Given the description of an element on the screen output the (x, y) to click on. 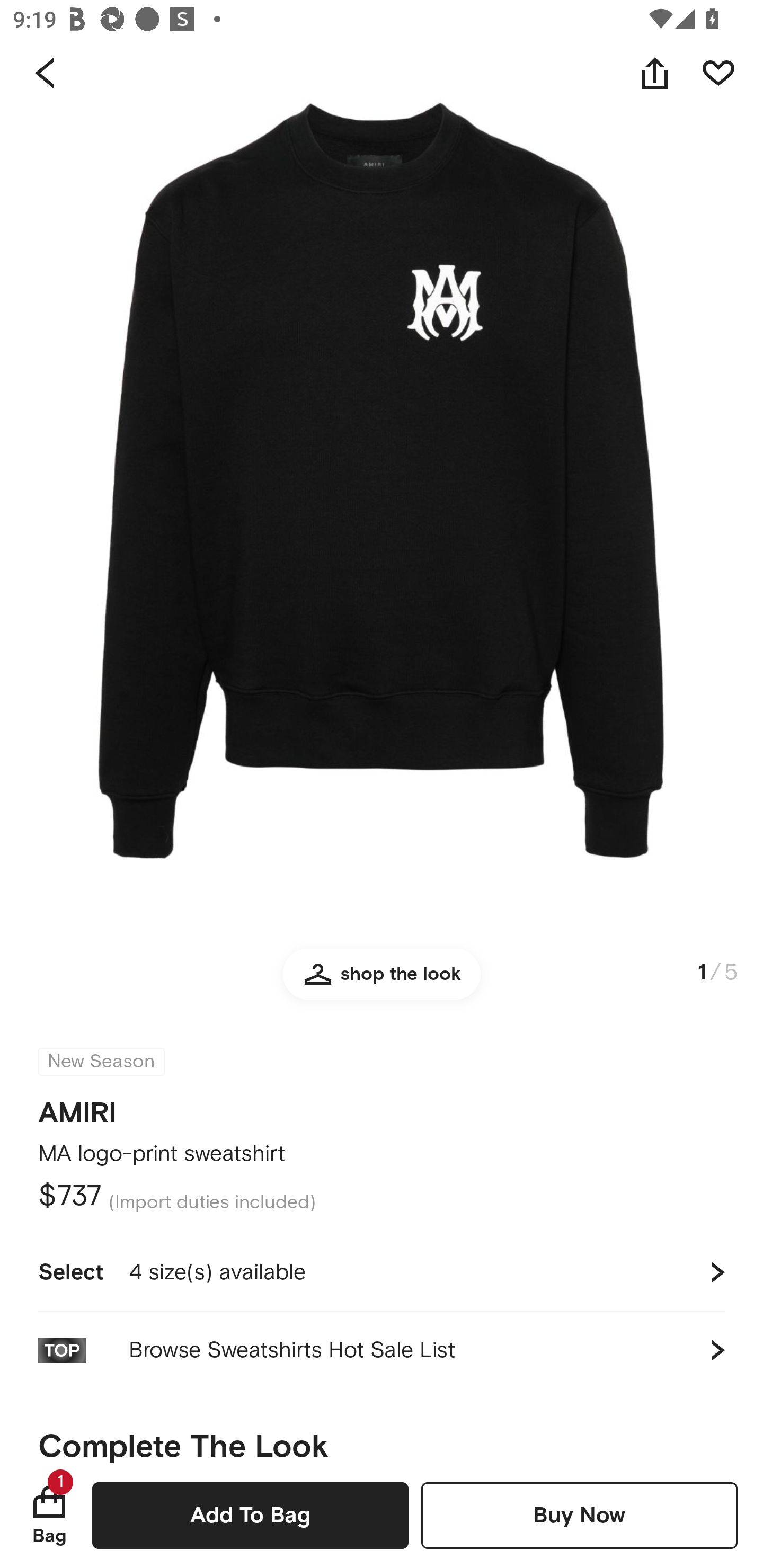
shop the look (381, 982)
AMIRI (77, 1107)
Select 4 size(s) available (381, 1272)
Browse Sweatshirts Hot Sale List (381, 1349)
Bag 1 (49, 1515)
Add To Bag (250, 1515)
Buy Now (579, 1515)
